Given the description of an element on the screen output the (x, y) to click on. 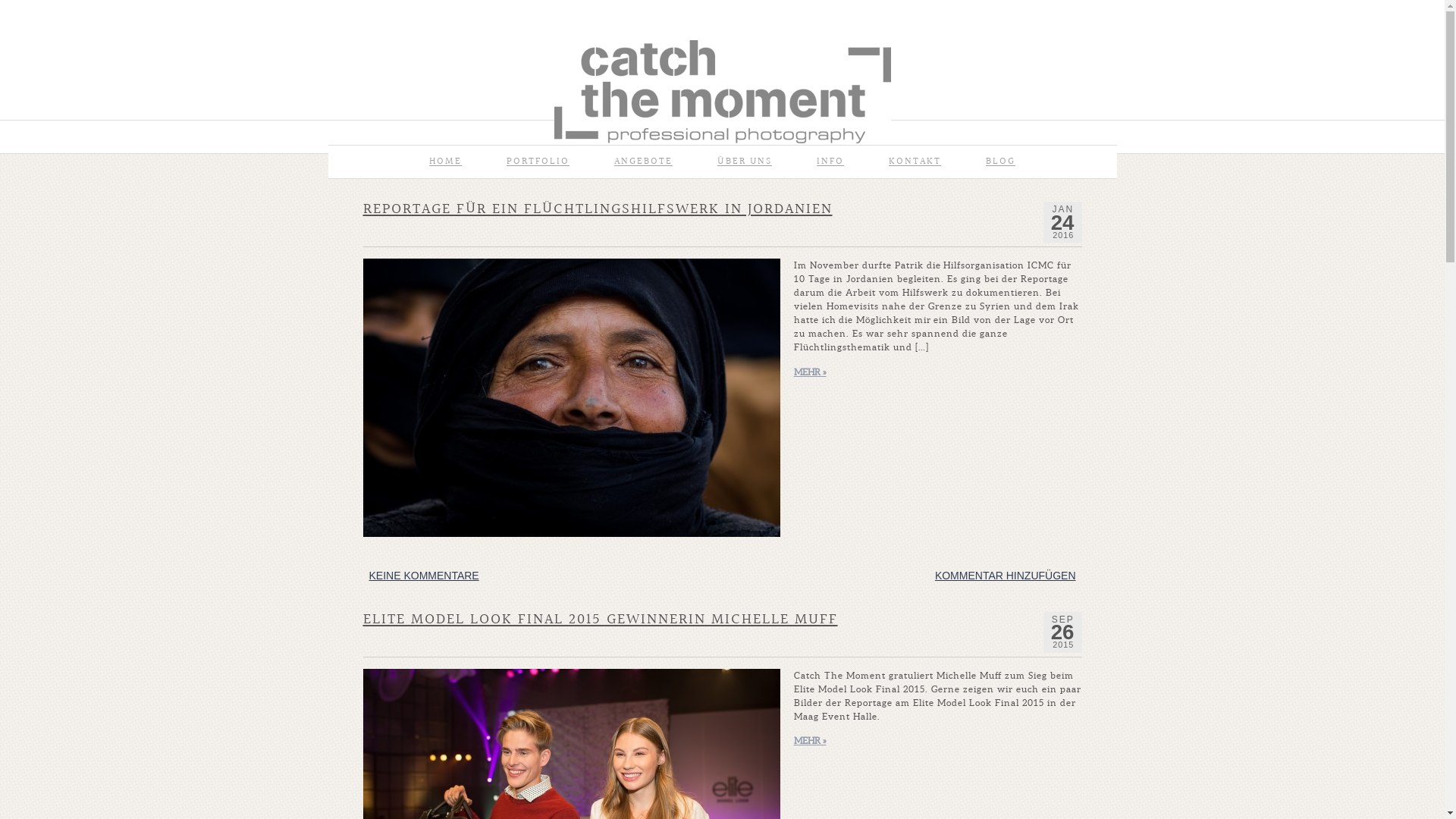
KEINE KOMMENTARE Element type: text (423, 575)
INFO Element type: text (830, 161)
ANGEBOTE Element type: text (643, 161)
BLOG Element type: text (1000, 161)
ELITE MODEL LOOK FINAL 2015 GEWINNERIN MICHELLE MUFF Element type: text (599, 619)
KONTAKT Element type: text (914, 161)
PORTFOLIO Element type: text (537, 161)
HOME Element type: text (445, 161)
